Given the description of an element on the screen output the (x, y) to click on. 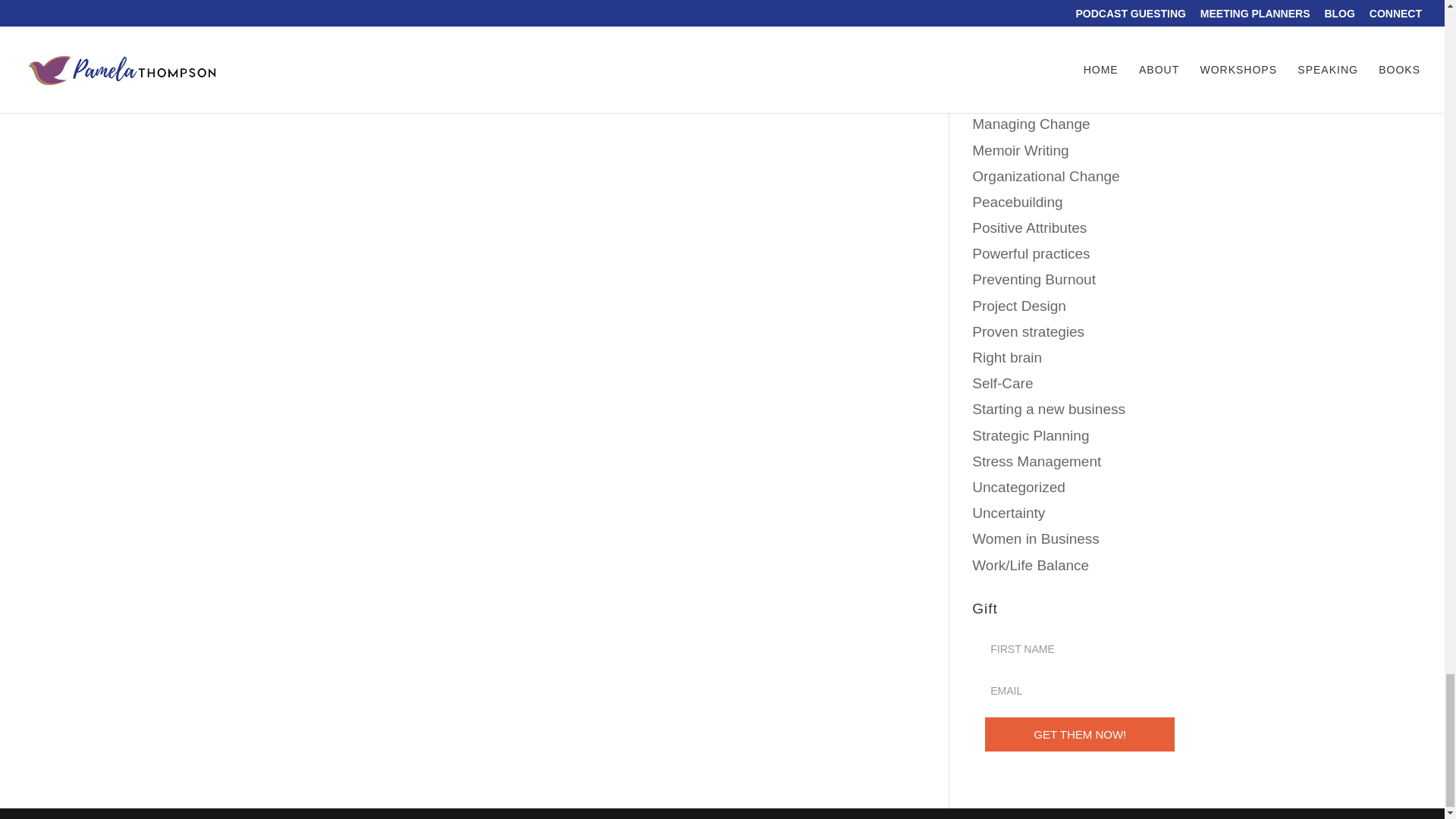
GET THEM NOW! (1079, 734)
